Given the description of an element on the screen output the (x, y) to click on. 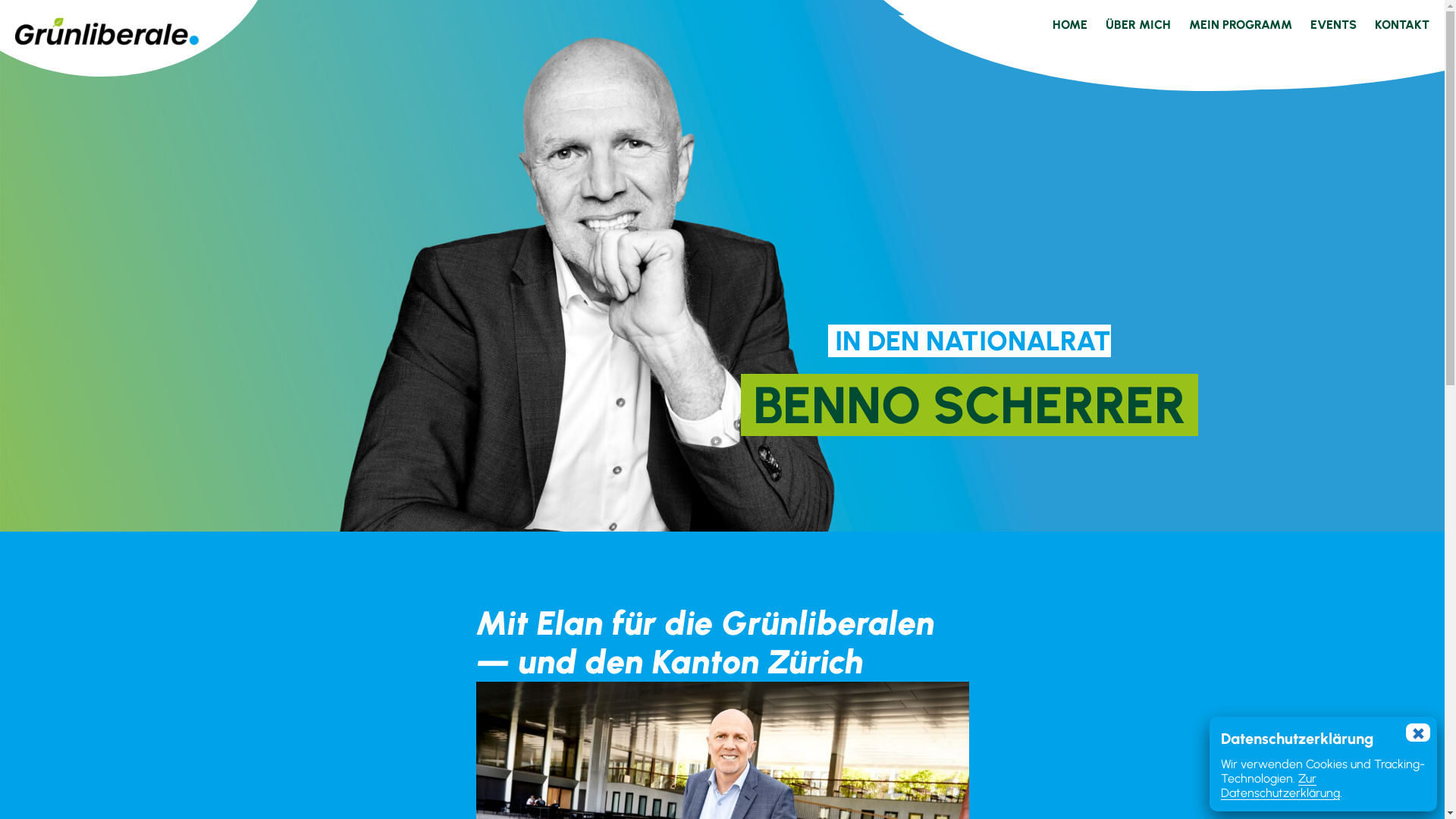
EVENTS Element type: text (1333, 24)
MEIN PROGRAMM Element type: text (1240, 24)
HOME Element type: text (1069, 24)
KONTAKT Element type: text (1401, 24)
